Given the description of an element on the screen output the (x, y) to click on. 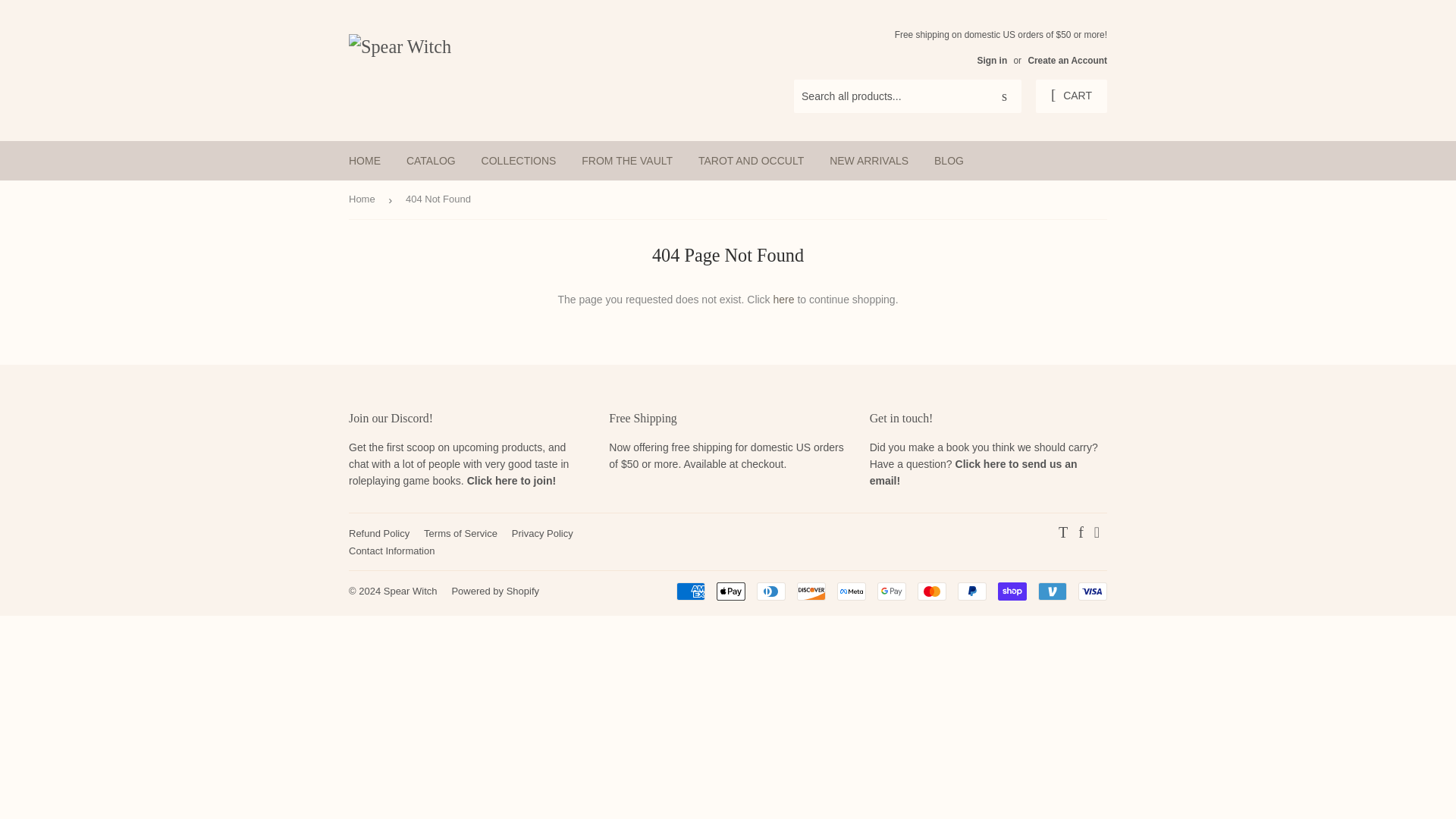
Mastercard (931, 591)
HOME (364, 160)
Contact Information (391, 550)
CART (1070, 96)
NEW ARRIVALS (869, 160)
Search (1004, 97)
Google Pay (891, 591)
PayPal (972, 591)
Sign in (991, 60)
Click here to send us an email! (973, 471)
